Given the description of an element on the screen output the (x, y) to click on. 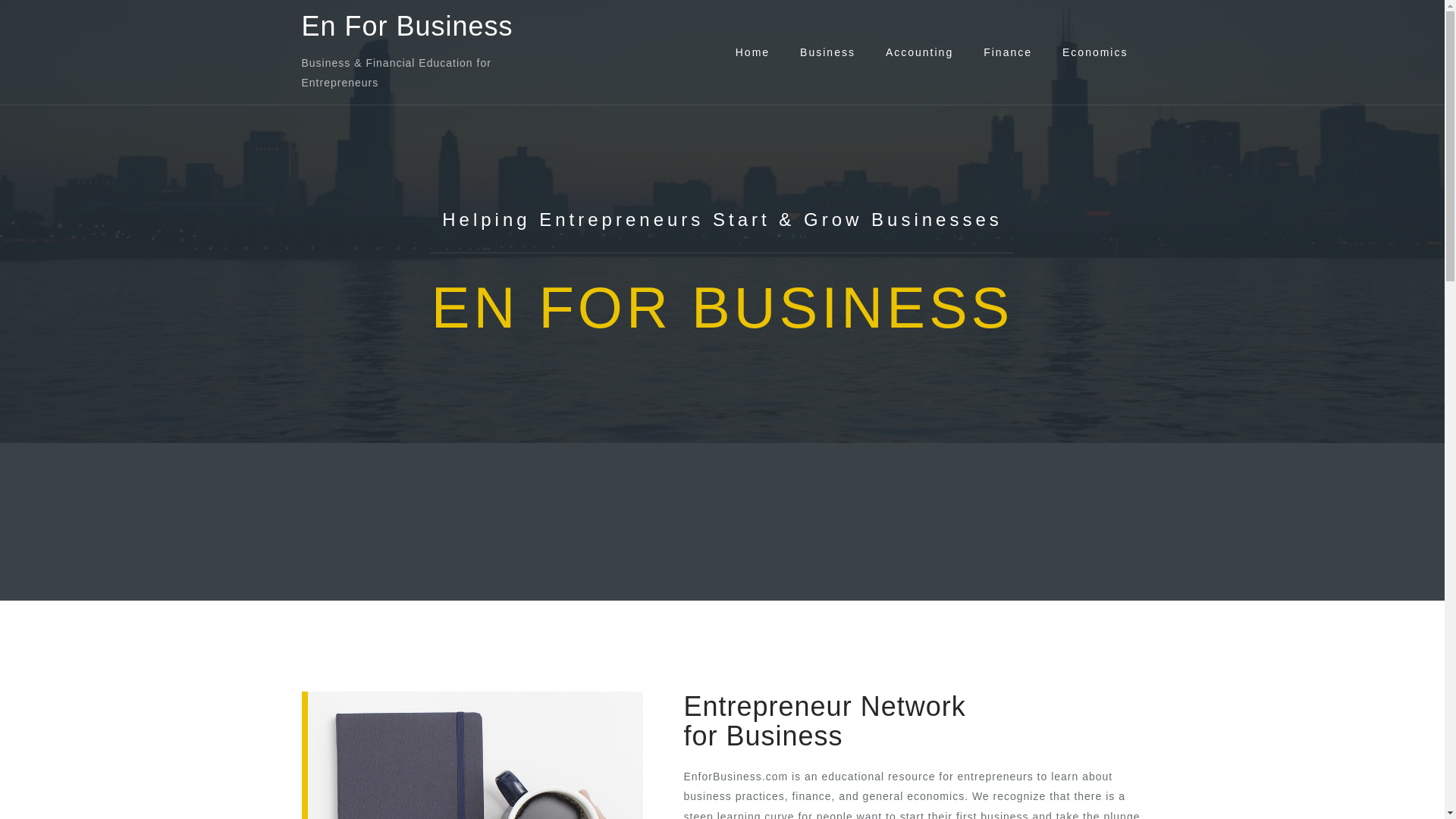
Business (827, 52)
En For Business (407, 25)
Economics (1094, 52)
Finance (1008, 52)
Home (752, 52)
Accounting (919, 52)
Search (54, 20)
